Given the description of an element on the screen output the (x, y) to click on. 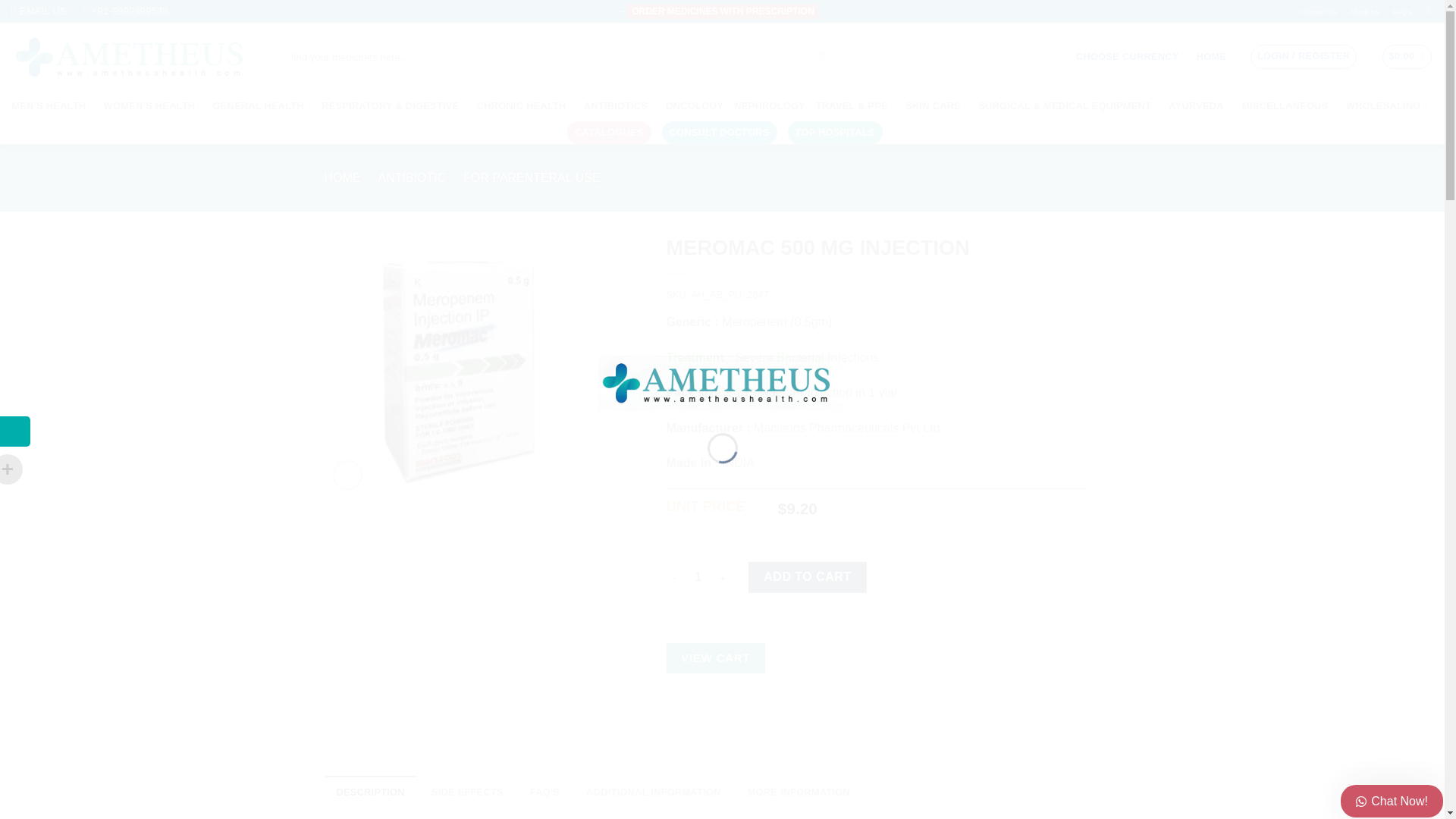
Search (821, 57)
EMAIL US (38, 11)
ORDER MEDICINES WITH PRESCRIPTION (722, 11)
HOME (1210, 56)
1 (697, 576)
Cart (1406, 56)
FAQ's (1401, 11)
About Us (1363, 11)
Qty (697, 576)
Contact Us (1318, 11)
